Given the description of an element on the screen output the (x, y) to click on. 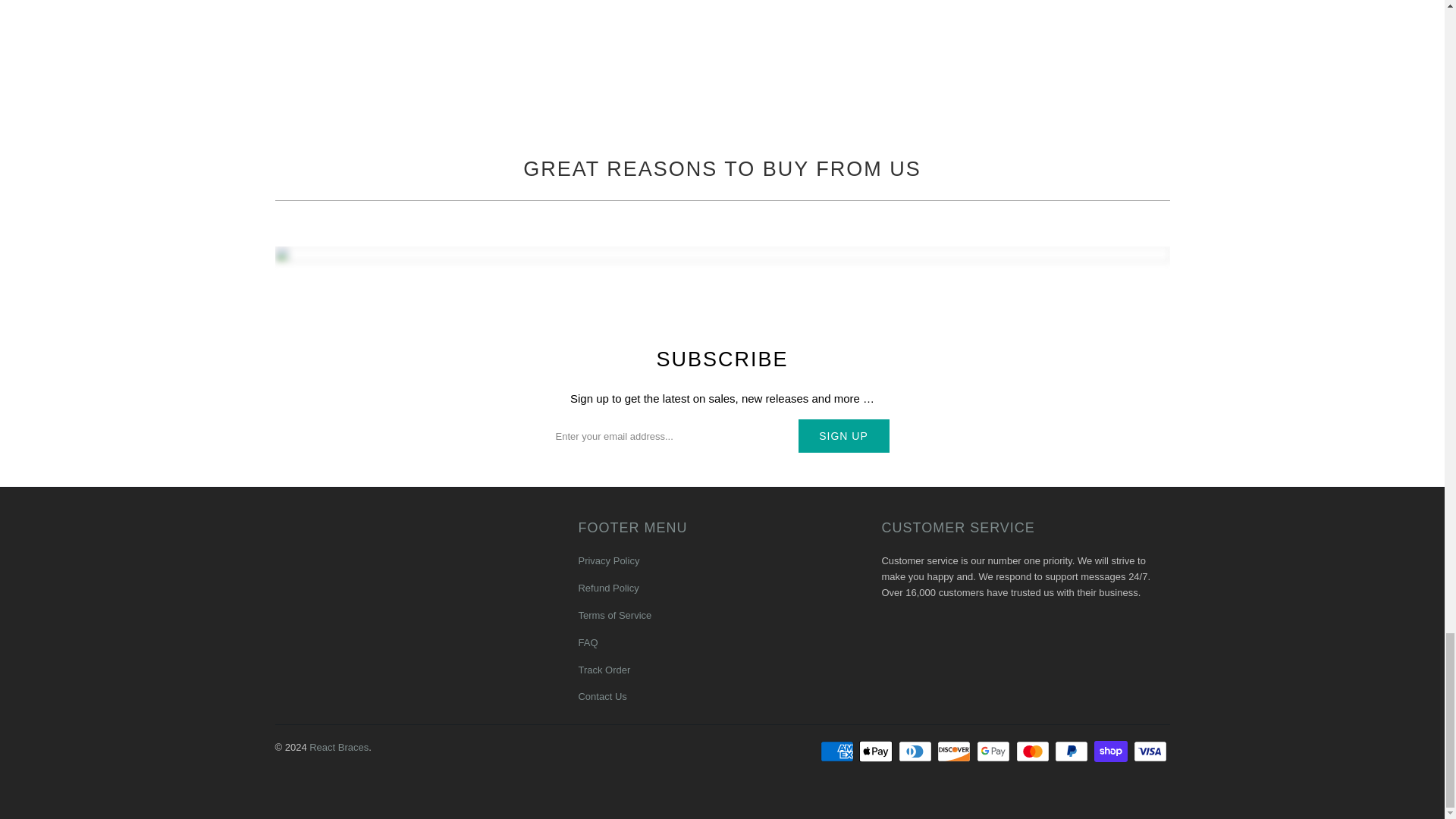
PayPal (1072, 751)
Mastercard (1034, 751)
Privacy Policy (608, 560)
Sign Up (842, 435)
Apple Pay (877, 751)
Sign Up (842, 435)
Visa (1150, 751)
REVOLUTIONARY DESIGN (955, 53)
Diners Club (916, 751)
Discover (955, 751)
American Express (839, 751)
Google Pay (994, 751)
Shop Pay (1112, 751)
